Given the description of an element on the screen output the (x, y) to click on. 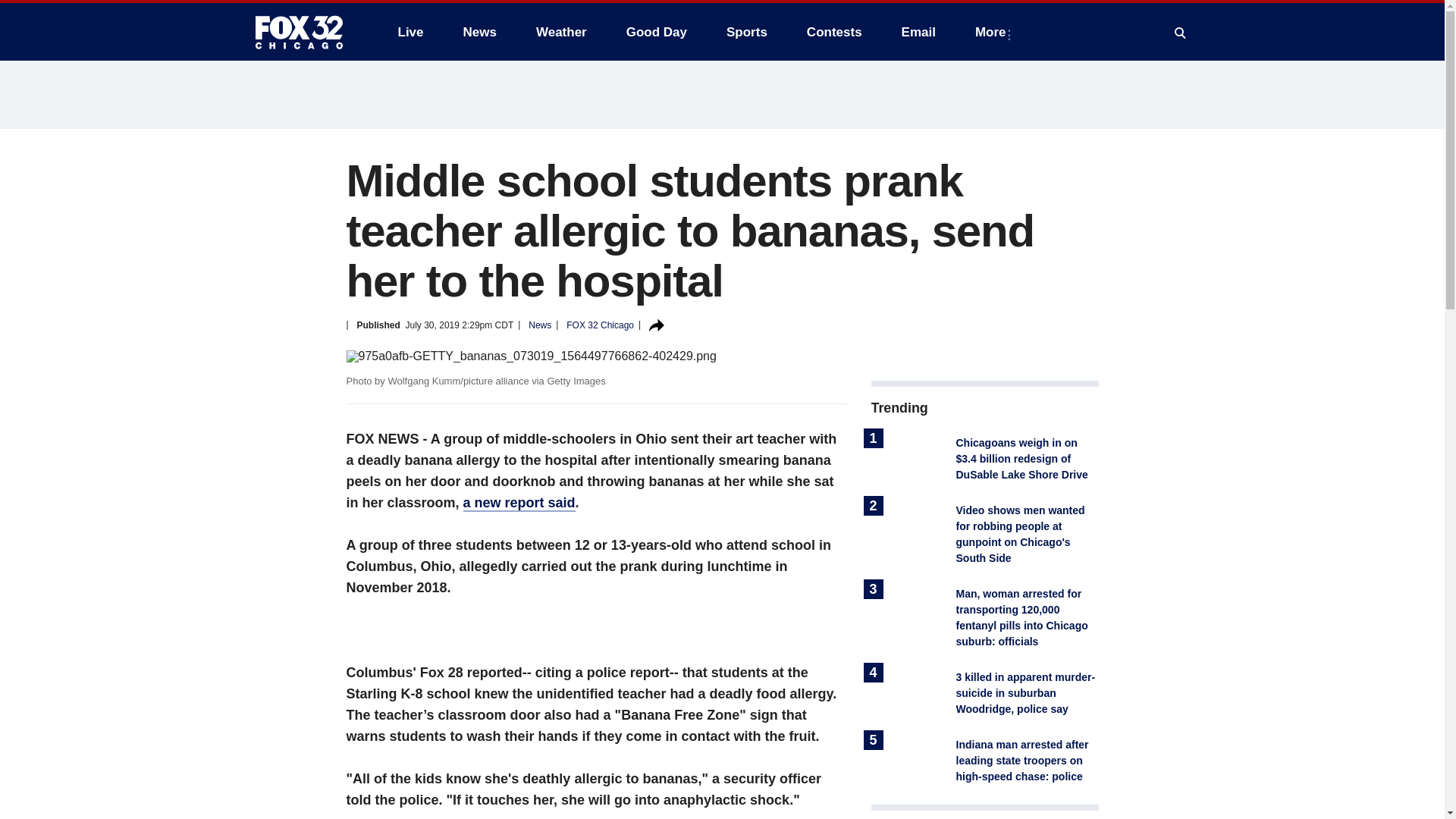
Sports (746, 32)
Live (410, 32)
Email (918, 32)
More (993, 32)
Contests (834, 32)
Weather (561, 32)
News (479, 32)
Good Day (656, 32)
